Given the description of an element on the screen output the (x, y) to click on. 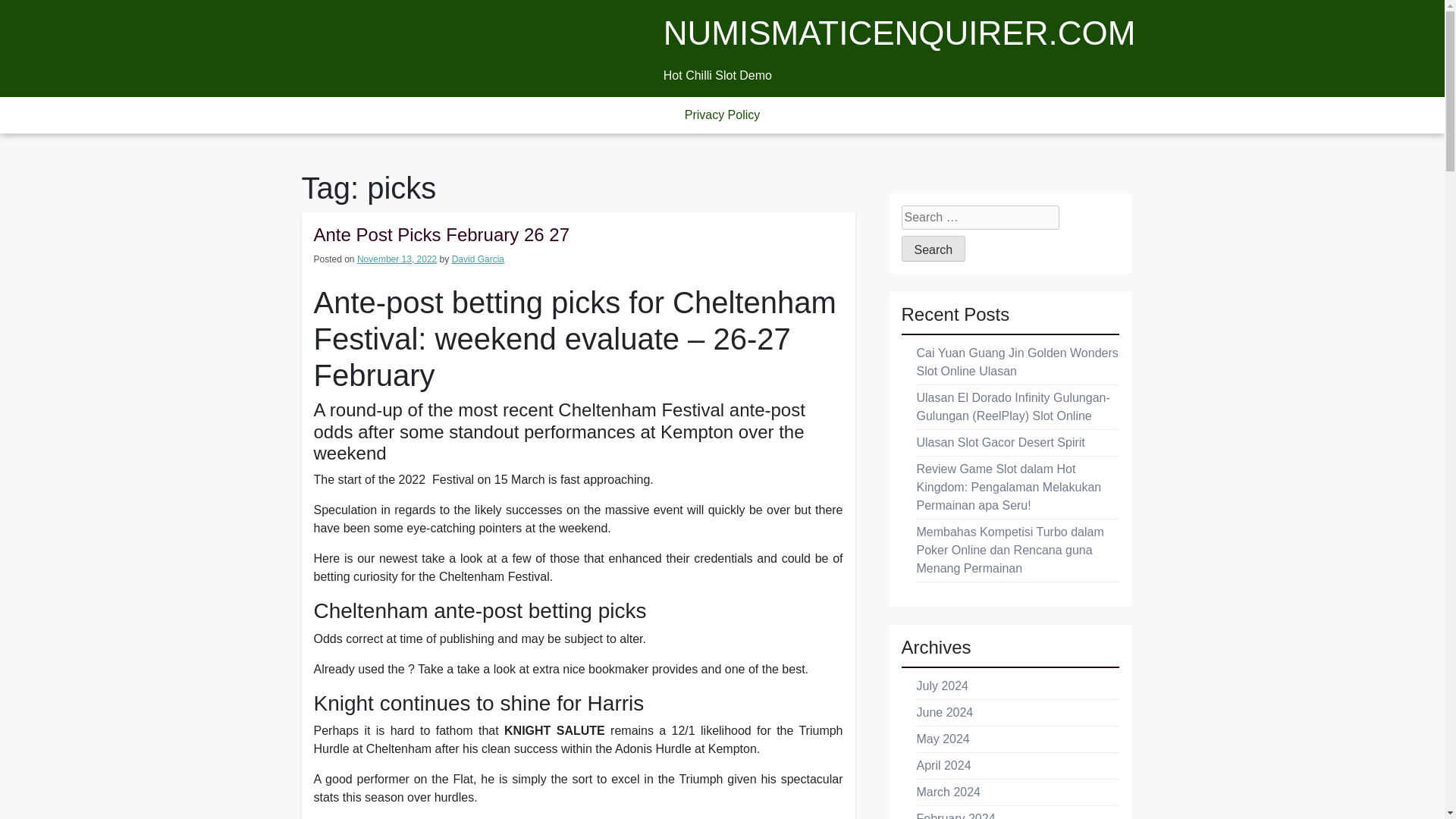
NUMISMATICENQUIRER.COM (899, 32)
Ante Post Picks February 26 27 (442, 234)
Privacy Policy (722, 115)
David Garcia (477, 258)
Search (933, 248)
June 2024 (943, 712)
February 2024 (954, 815)
July 2024 (941, 685)
March 2024 (947, 791)
November 13, 2022 (396, 258)
May 2024 (942, 738)
Cai Yuan Guang Jin Golden Wonders Slot Online Ulasan (1016, 361)
April 2024 (943, 765)
